Given the description of an element on the screen output the (x, y) to click on. 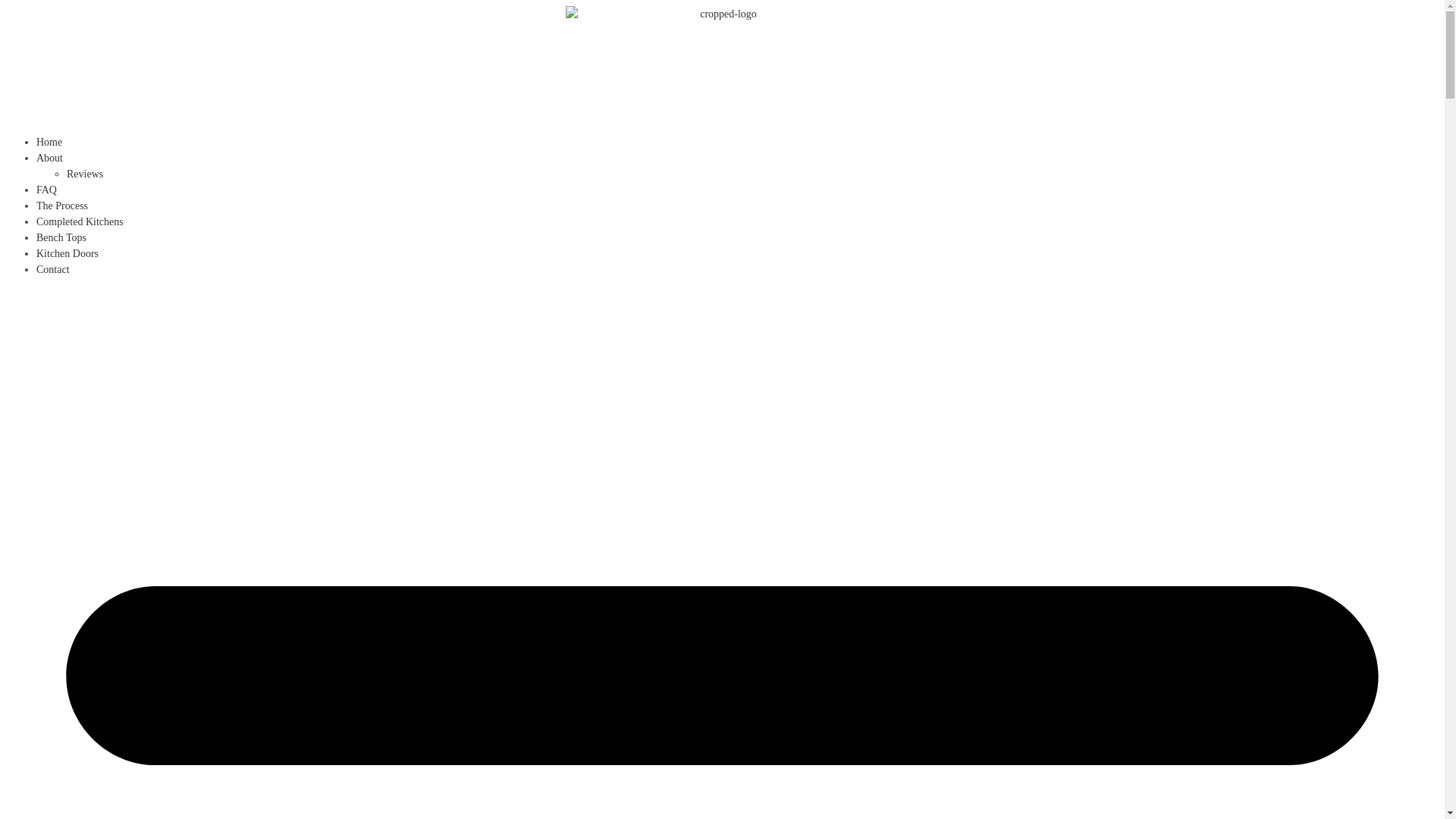
Reviews Element type: text (84, 173)
About Element type: text (49, 157)
The Process Element type: text (61, 205)
Kitchen Doors Element type: text (67, 253)
Home Element type: text (49, 141)
Completed Kitchens Element type: text (79, 221)
FAQ Element type: text (46, 189)
Contact Element type: text (52, 269)
Bench Tops Element type: text (61, 237)
